Given the description of an element on the screen output the (x, y) to click on. 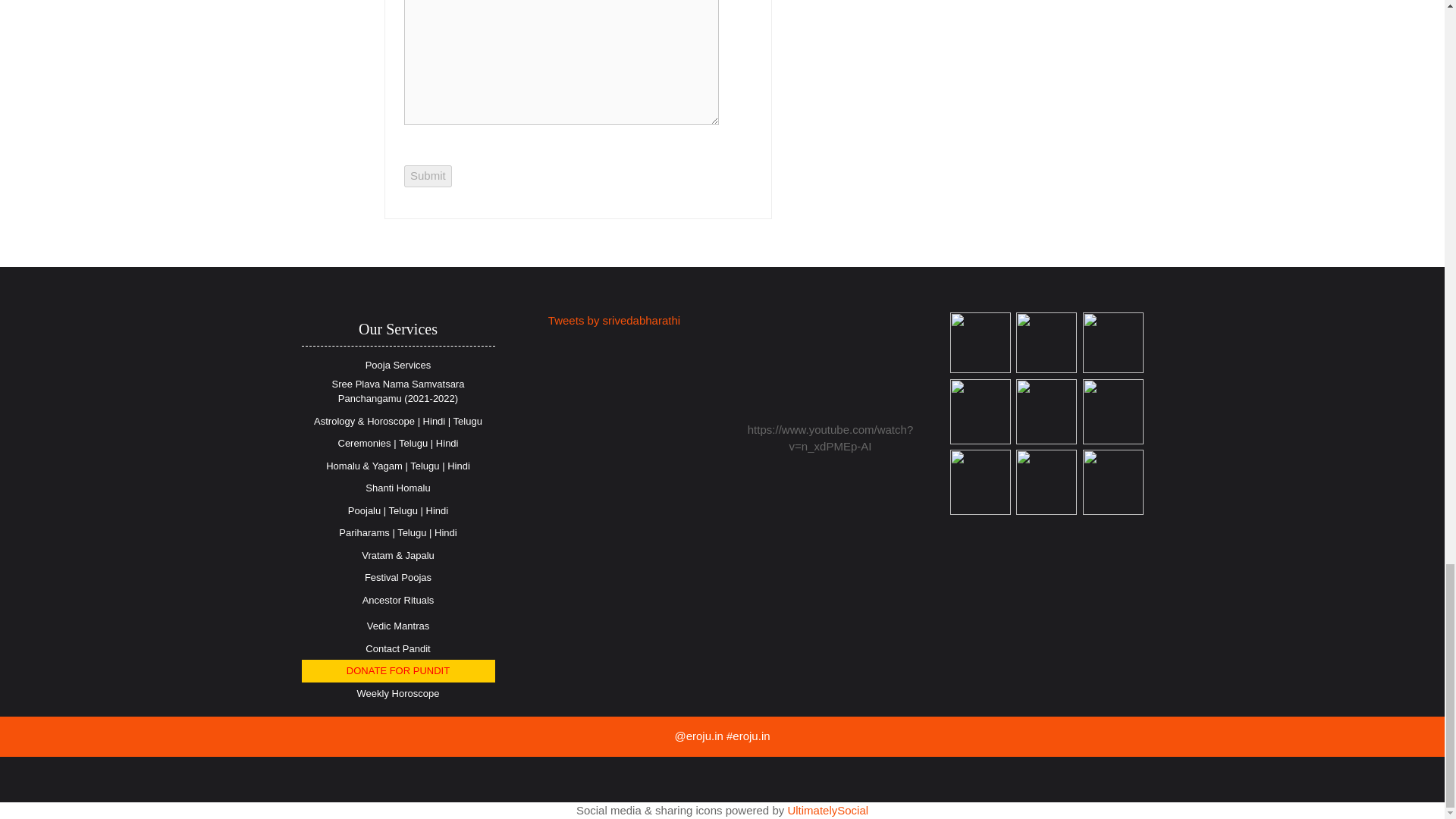
Submit (427, 176)
Submit (427, 176)
